Given the description of an element on the screen output the (x, y) to click on. 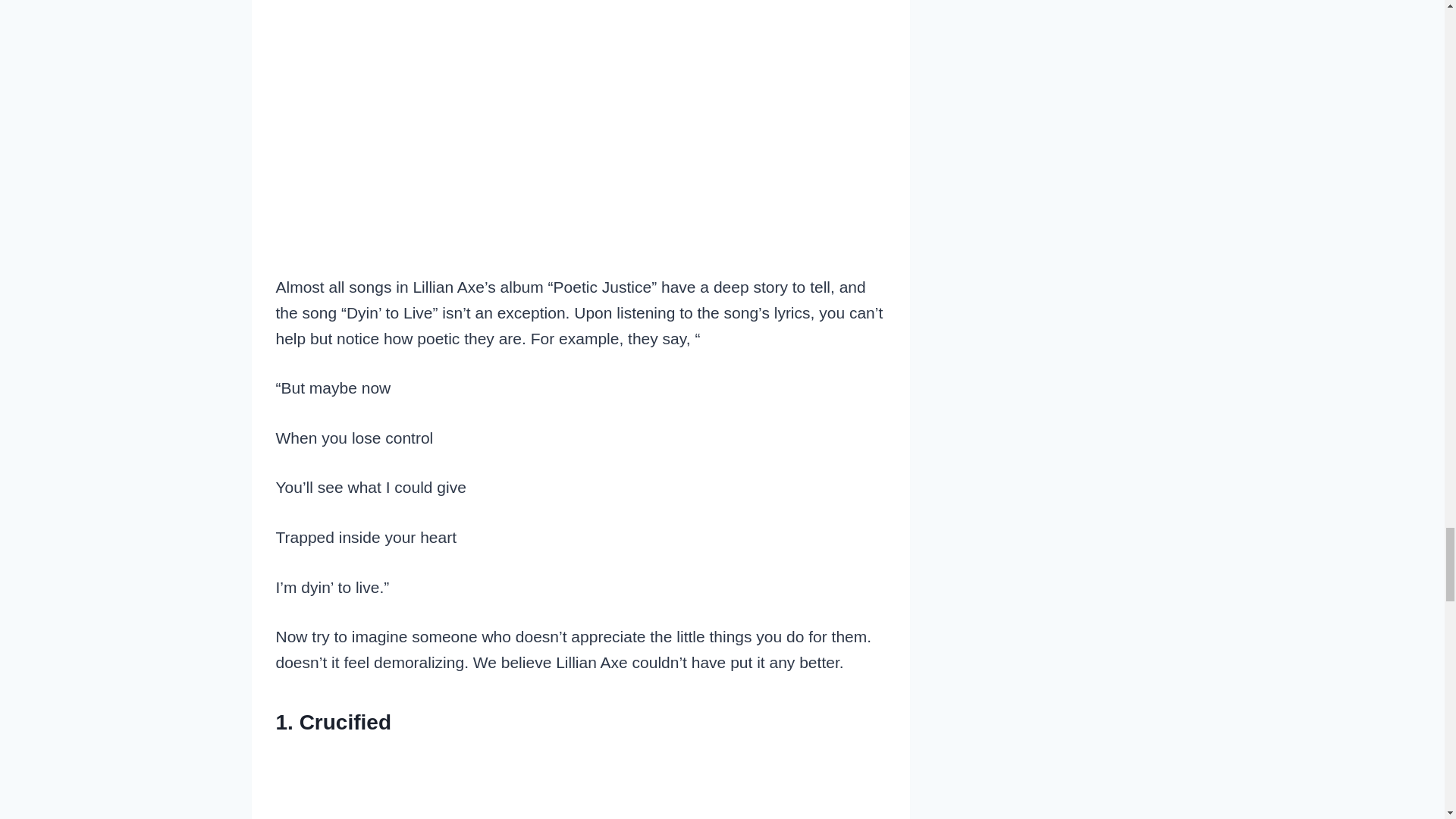
LILLIAN AXE -Crucified (581, 784)
